Given the description of an element on the screen output the (x, y) to click on. 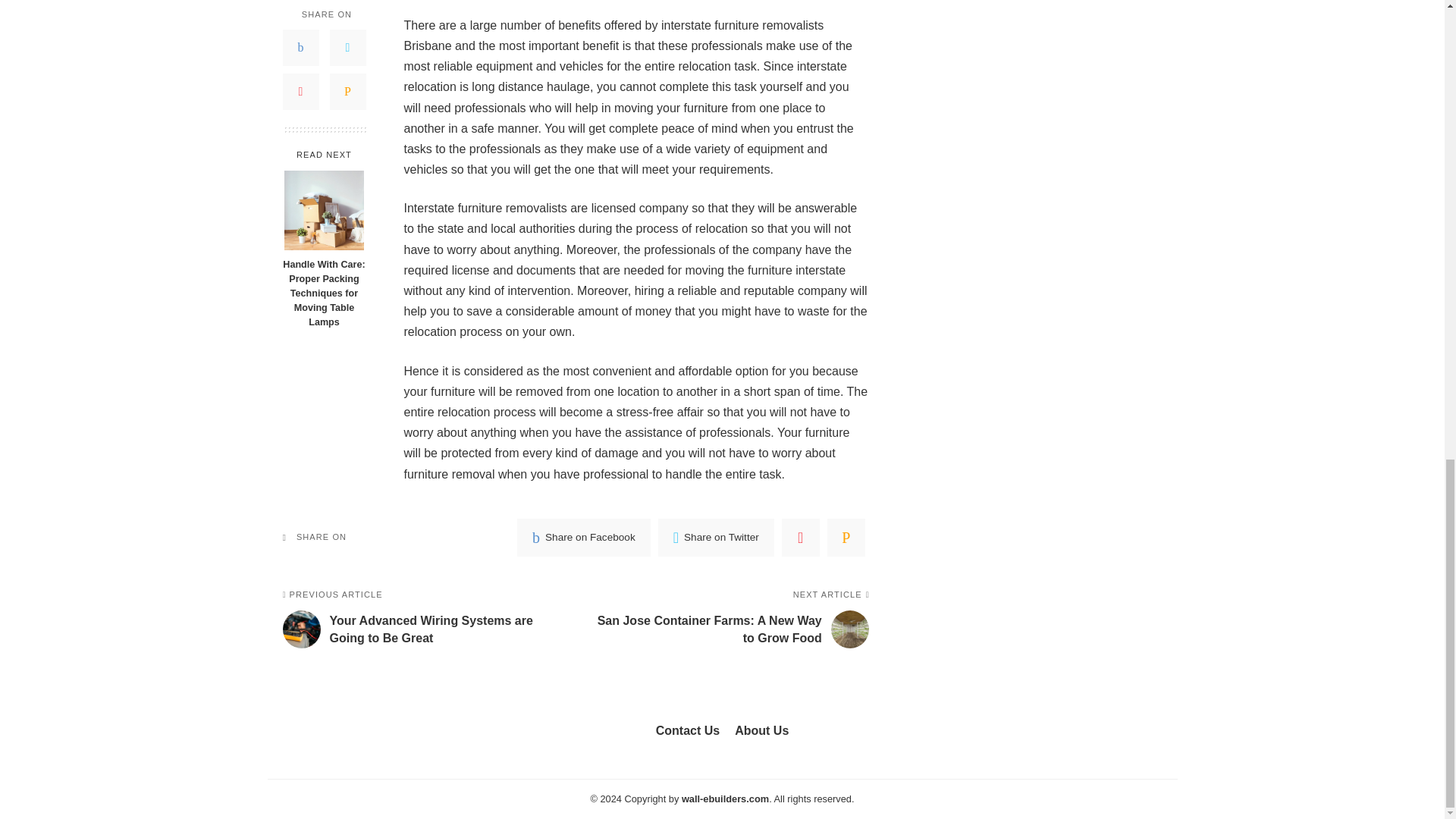
Share on Facebook (583, 537)
Share on Twitter (716, 537)
